Given the description of an element on the screen output the (x, y) to click on. 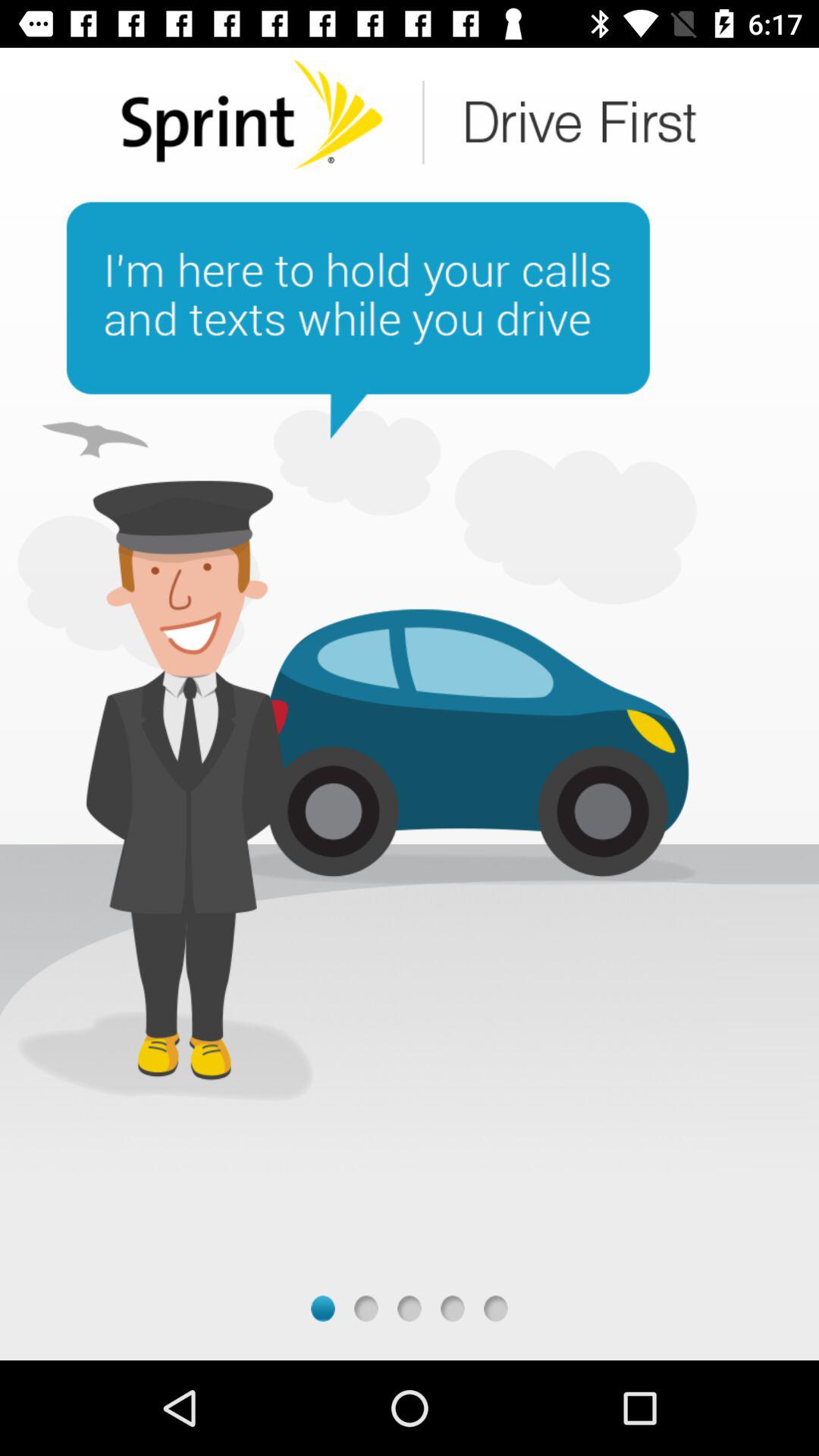
go to 2nd page (366, 1308)
